Given the description of an element on the screen output the (x, y) to click on. 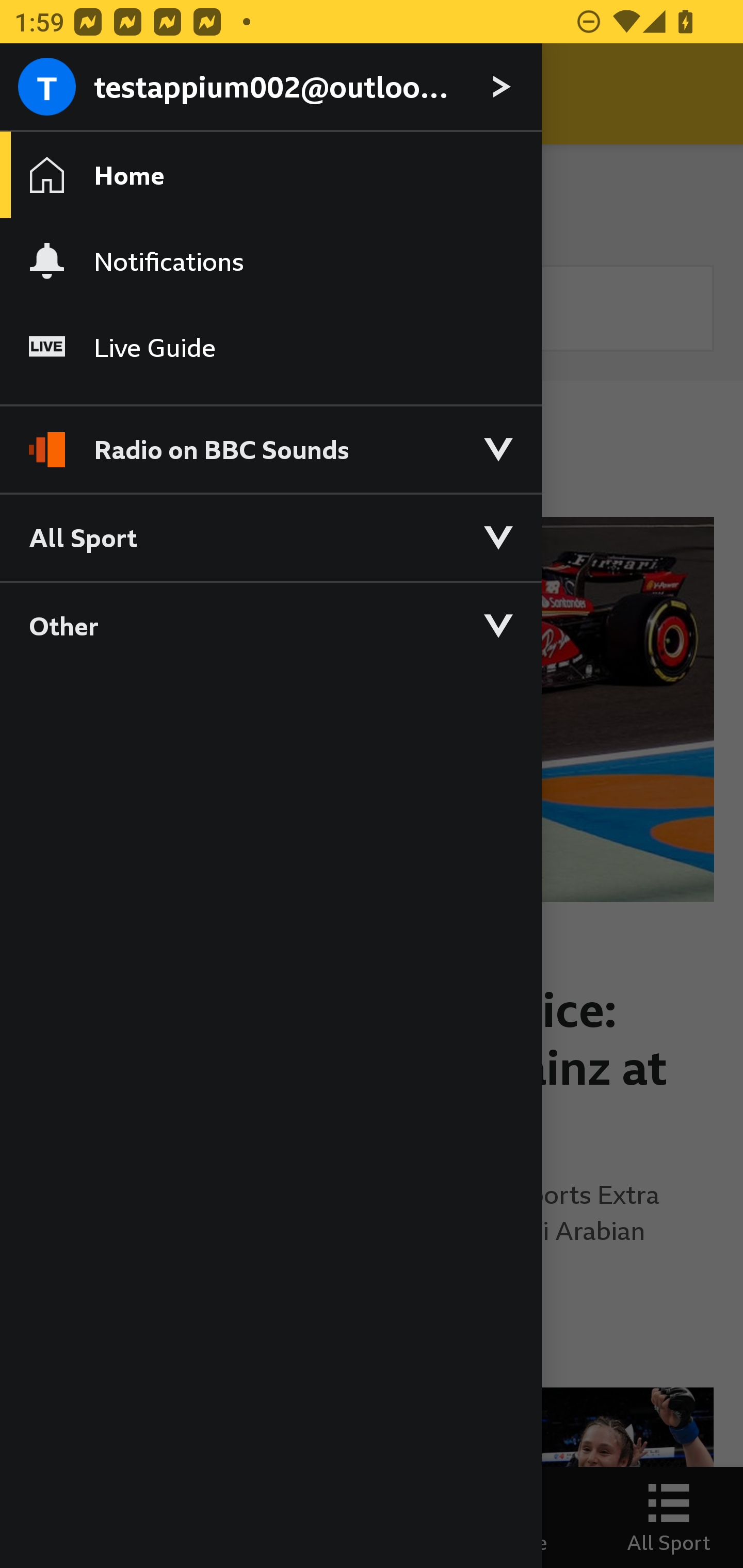
Close Menu (50, 93)
testappium002@outlook.com (270, 87)
Home (270, 174)
Notifications (270, 260)
Live Guide (270, 347)
Radio on BBC Sounds (270, 441)
All Sport (270, 536)
Other (270, 624)
